Given the description of an element on the screen output the (x, y) to click on. 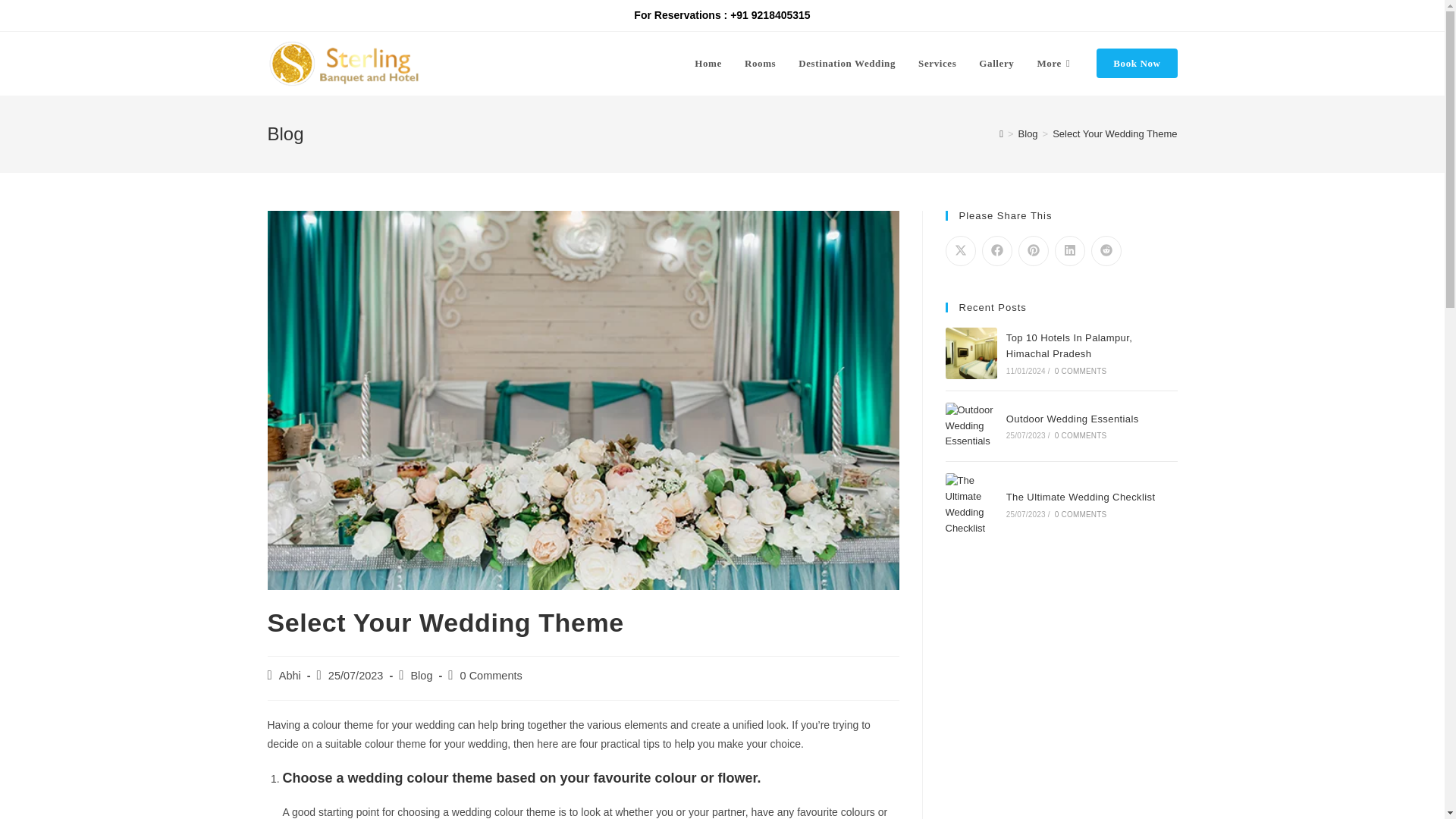
Share on Facebook (996, 250)
Top 10 Hotels In Palampur, Himachal Pradesh (1069, 345)
Gallery (996, 63)
Rooms (760, 63)
Share on Pinterest (1032, 250)
Outdoor Wedding Essentials (969, 425)
0 Comments (491, 675)
The Ultimate Wedding Checklist (1081, 496)
Services (937, 63)
Select Your Wedding Theme (1114, 133)
